Given the description of an element on the screen output the (x, y) to click on. 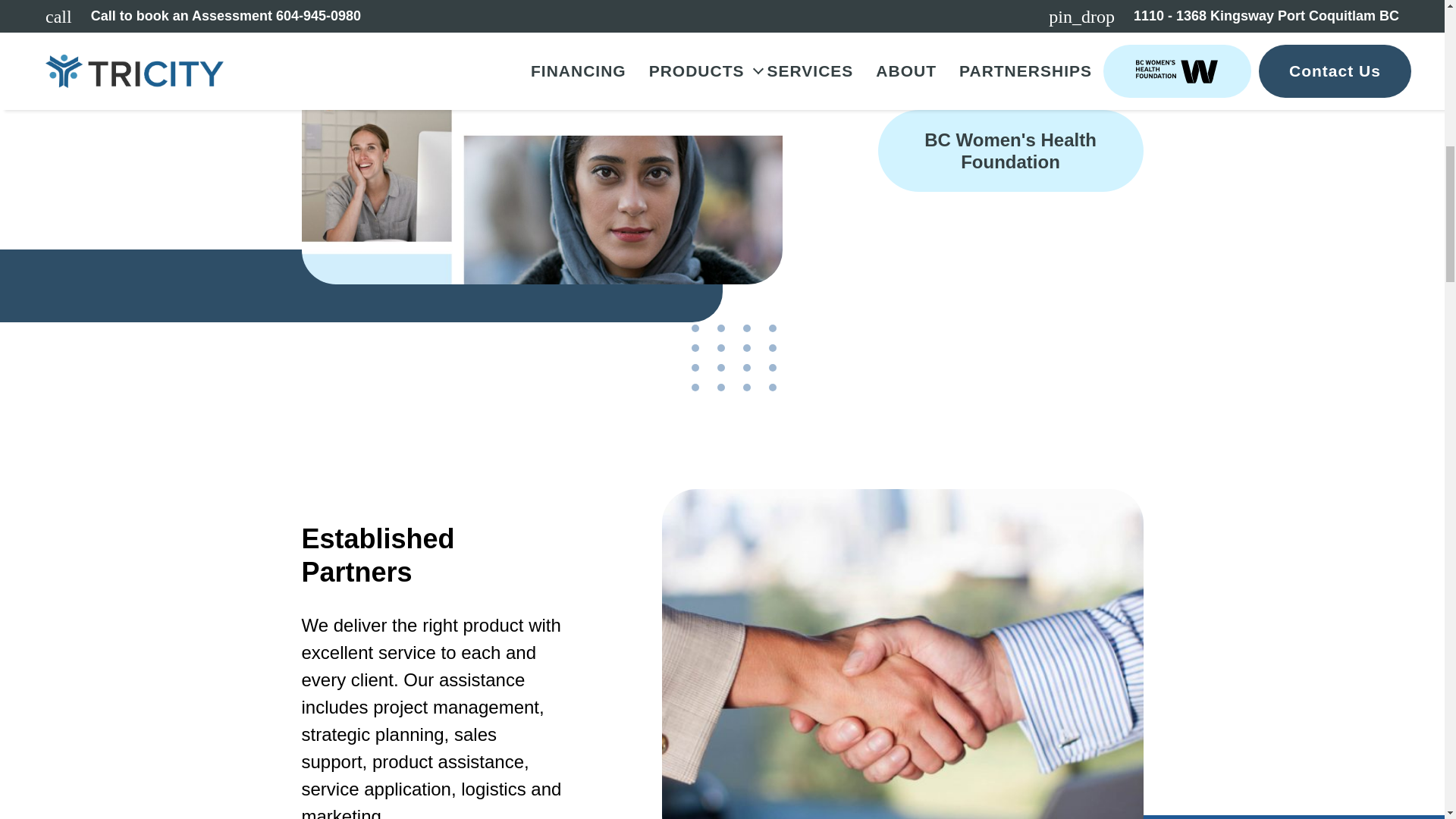
BC Women's Health Foundation (1009, 150)
